Given the description of an element on the screen output the (x, y) to click on. 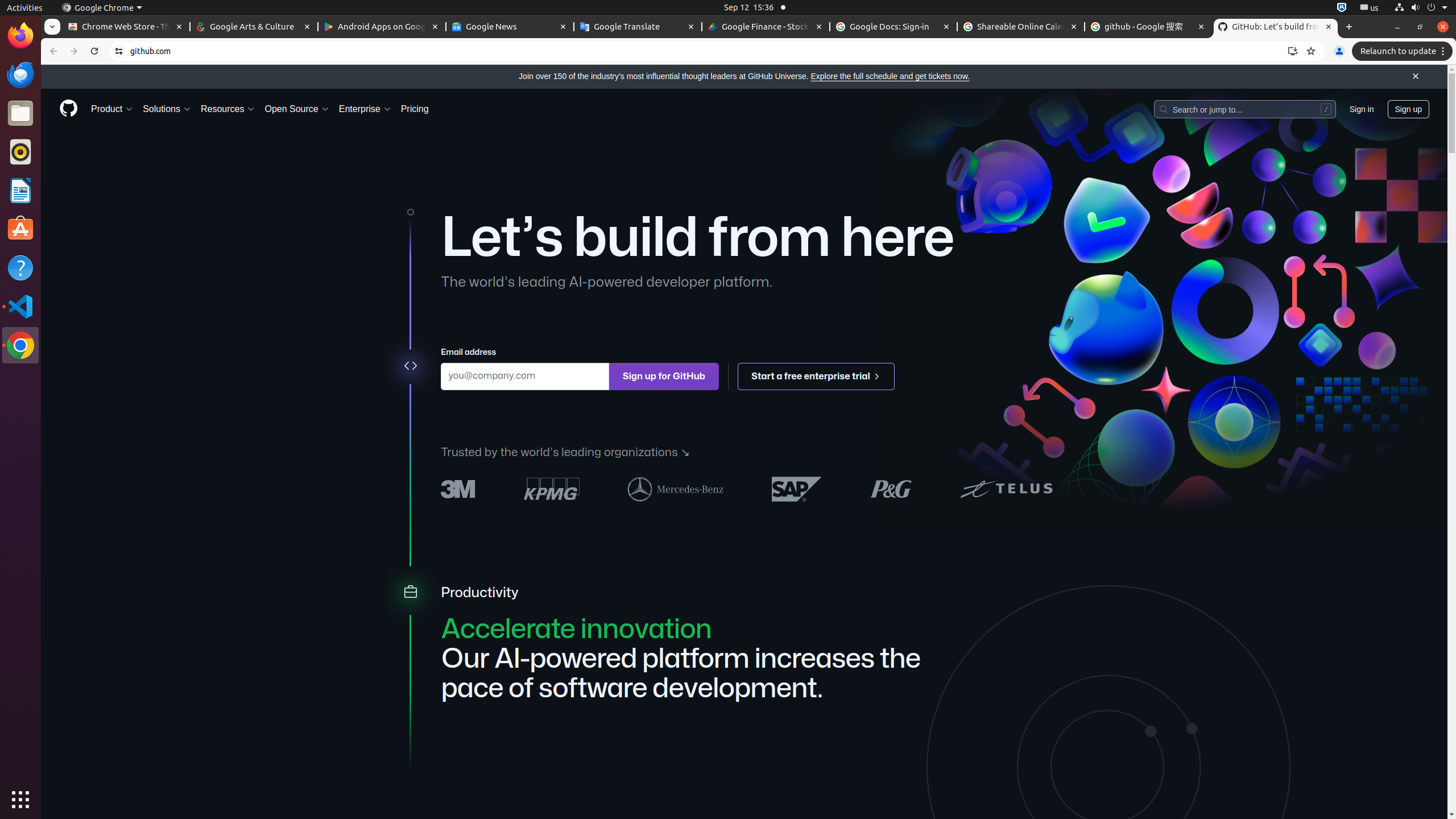
Thunderbird Mail Element type: push-button (20, 74)
Show Applications Element type: toggle-button (20, 799)
Install GitHub Element type: push-button (1292, 51)
Resources Element type: push-button (227, 108)
Help Element type: push-button (20, 267)
